Given the description of an element on the screen output the (x, y) to click on. 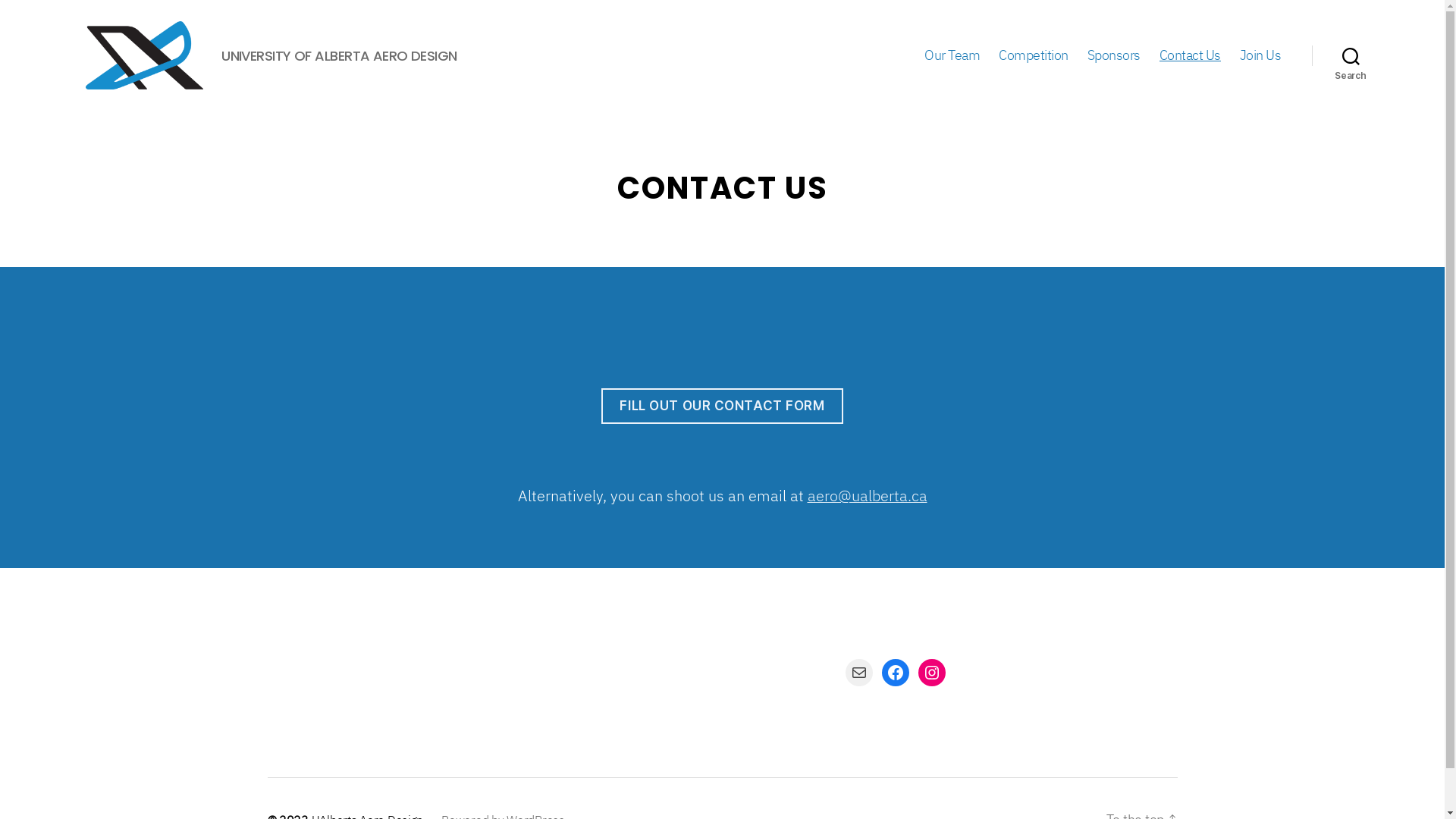
Our Team Element type: text (951, 55)
Search Element type: text (1350, 55)
Contact Us Element type: text (1189, 55)
FILL OUT OUR CONTACT FORM Element type: text (722, 406)
Sponsors Element type: text (1113, 55)
Facebook Element type: text (894, 672)
Instagram Element type: text (930, 672)
Join Us Element type: text (1260, 55)
Mail Element type: text (858, 672)
aero@ualberta.ca Element type: text (866, 495)
Competition Element type: text (1033, 55)
